Given the description of an element on the screen output the (x, y) to click on. 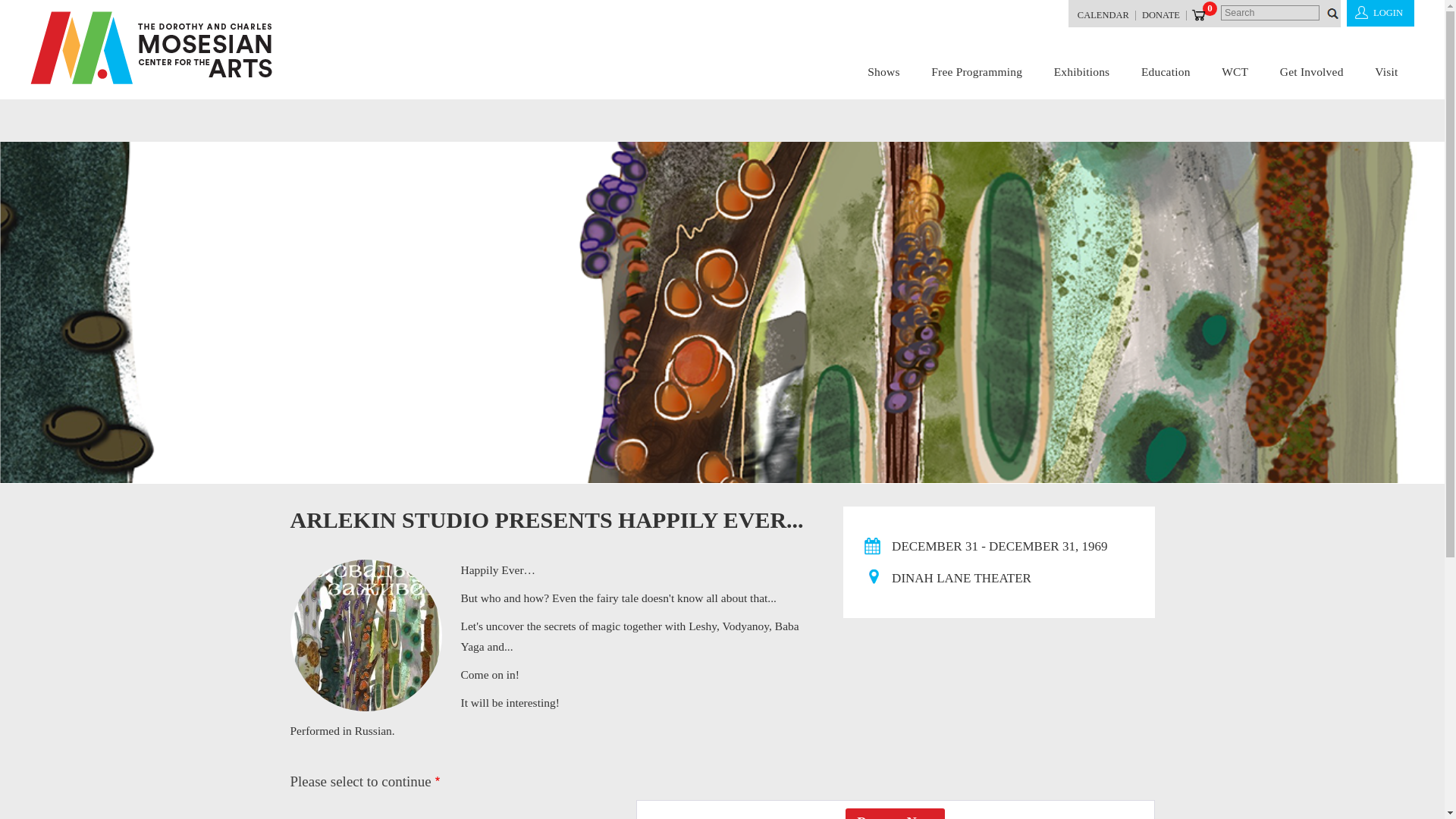
Free Programming (975, 73)
CALENDAR (1103, 17)
LOGIN (1379, 13)
Shows (883, 73)
Education (1165, 73)
Exhibitions (1082, 73)
DONATE (1160, 17)
Home (151, 47)
